Given the description of an element on the screen output the (x, y) to click on. 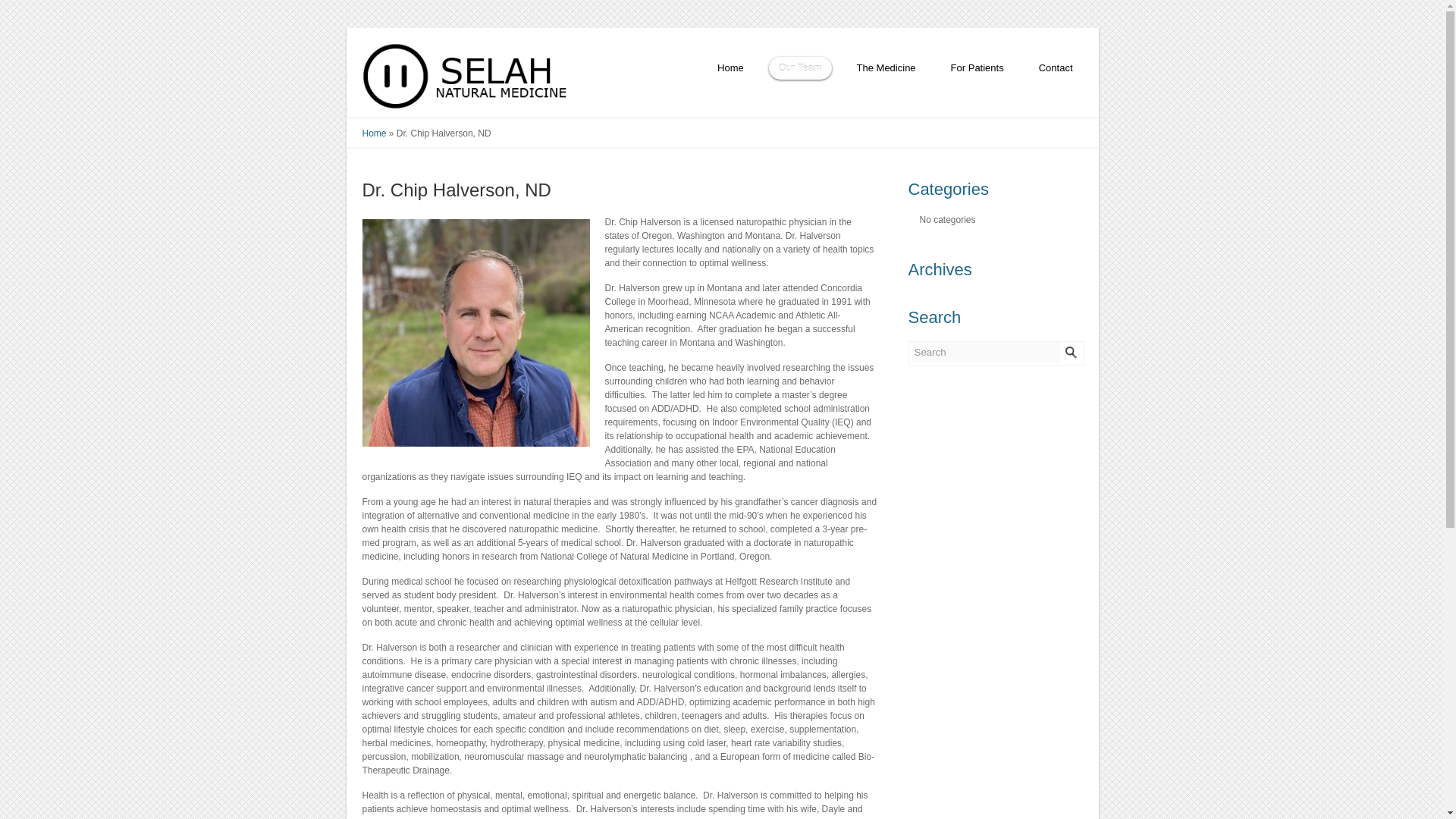
Contact (1056, 70)
Our Team (799, 70)
Search (985, 352)
The Medicine (886, 70)
For Patients (976, 70)
Home (374, 132)
Home (730, 70)
